Given the description of an element on the screen output the (x, y) to click on. 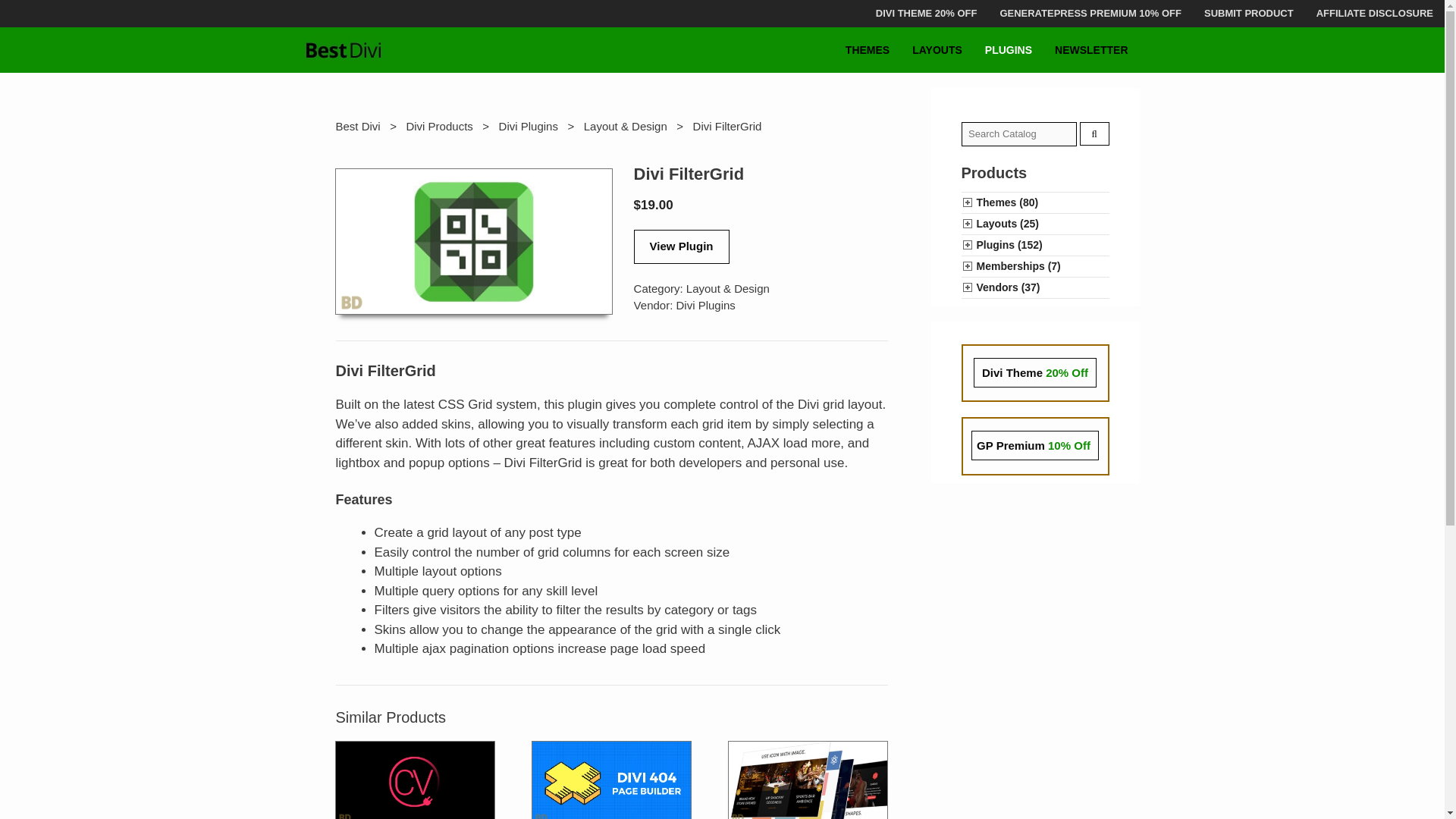
THEMES (867, 49)
NEWSLETTER (1090, 49)
Best Divi (357, 125)
View Plugin (681, 246)
Best Divi (342, 49)
Divi Products (438, 125)
Divi Plugins (706, 305)
LAYOUTS (937, 49)
Divi FilterGrid (472, 240)
